Given the description of an element on the screen output the (x, y) to click on. 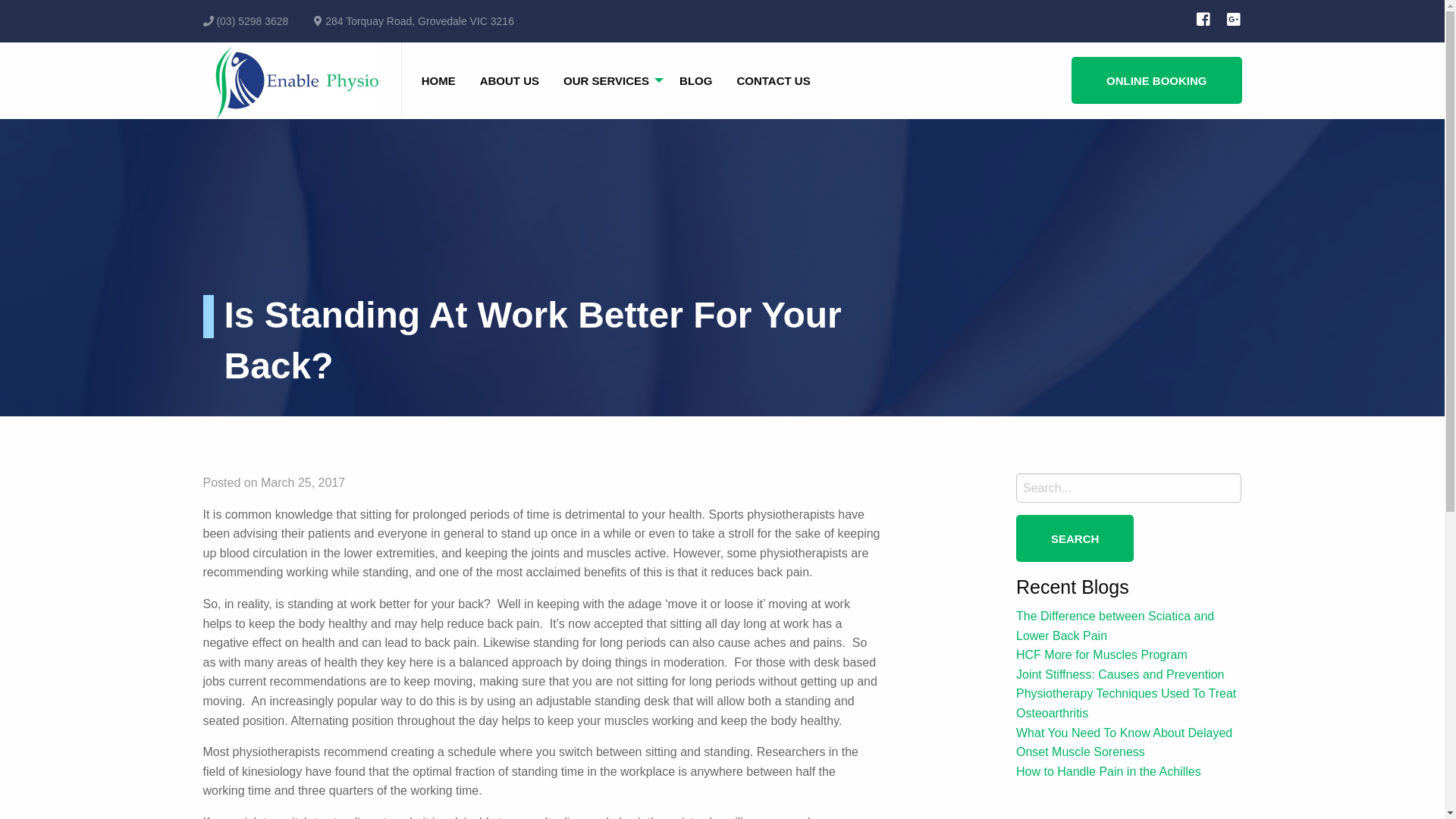
HOME Element type: text (438, 80)
ABOUT US Element type: text (509, 80)
What You Need To Know About Delayed Onset Muscle Soreness Element type: text (1124, 742)
ONLINE BOOKING Element type: text (1156, 79)
Search Element type: text (1074, 537)
OUR SERVICES Element type: text (609, 80)
Search for: Element type: hover (1129, 487)
CONTACT US Element type: text (773, 80)
HCF More for Muscles Program Element type: text (1101, 654)
Physiotherapy Techniques Used To Treat Osteoarthritis Element type: text (1126, 703)
BLOG Element type: text (695, 80)
The Difference between Sciatica and Lower Back Pain Element type: text (1115, 625)
How to Handle Pain in the Achilles Element type: text (1108, 771)
(03) 5298 3628 Element type: text (252, 21)
Joint Stiffness: Causes and Prevention Element type: text (1120, 674)
